Given the description of an element on the screen output the (x, y) to click on. 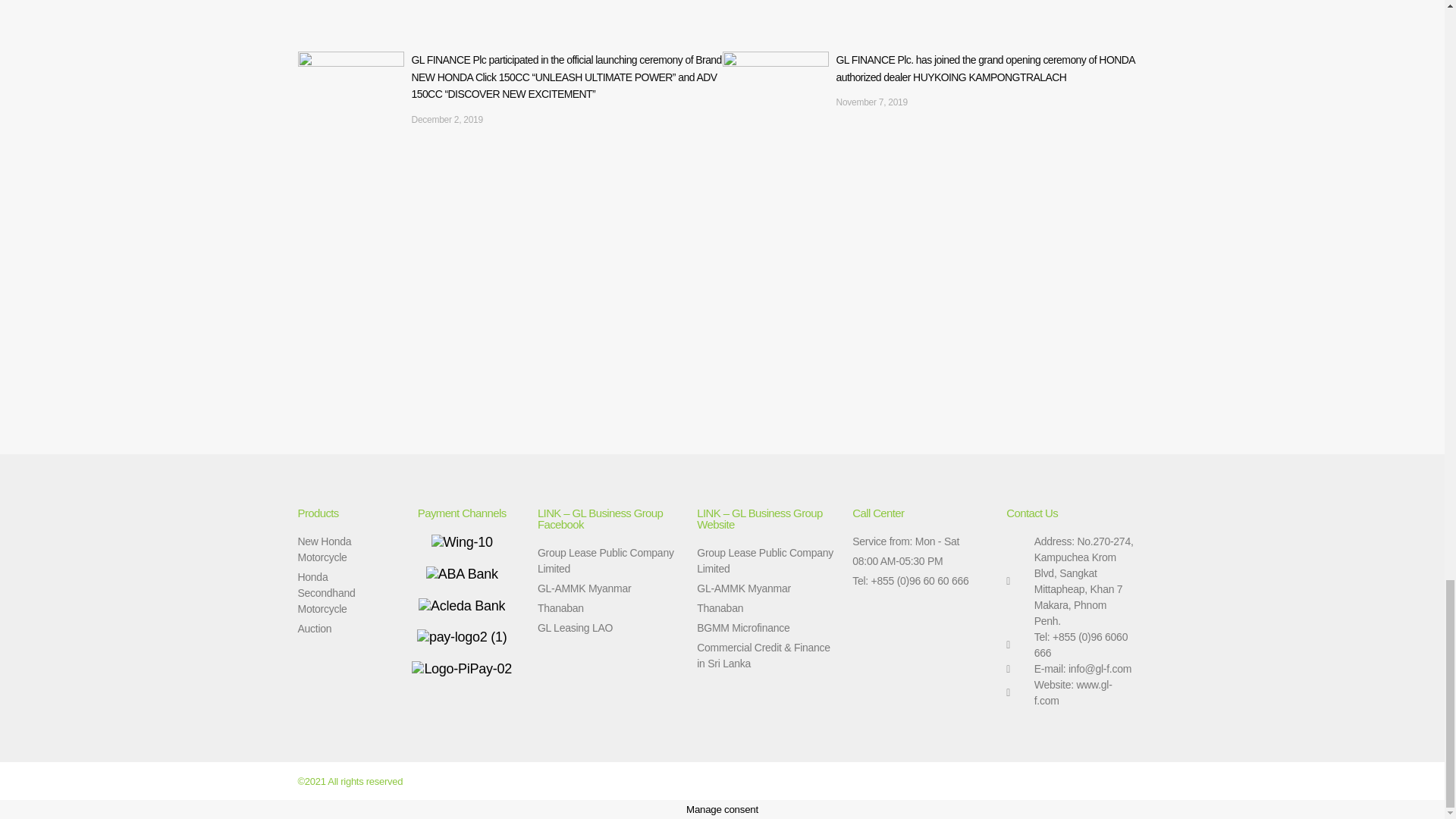
GL Leasing LAO (609, 627)
Logo-PiPay-02 (462, 668)
Group Lease Public Company Limited (767, 561)
GL-AMMK Myanmar (609, 588)
ABA Bank (461, 574)
Auction (341, 628)
New Honda Motorcycle (341, 549)
Acleda Bank (462, 606)
Thanaban (609, 608)
Group Lease Public Company Limited (609, 561)
